Given the description of an element on the screen output the (x, y) to click on. 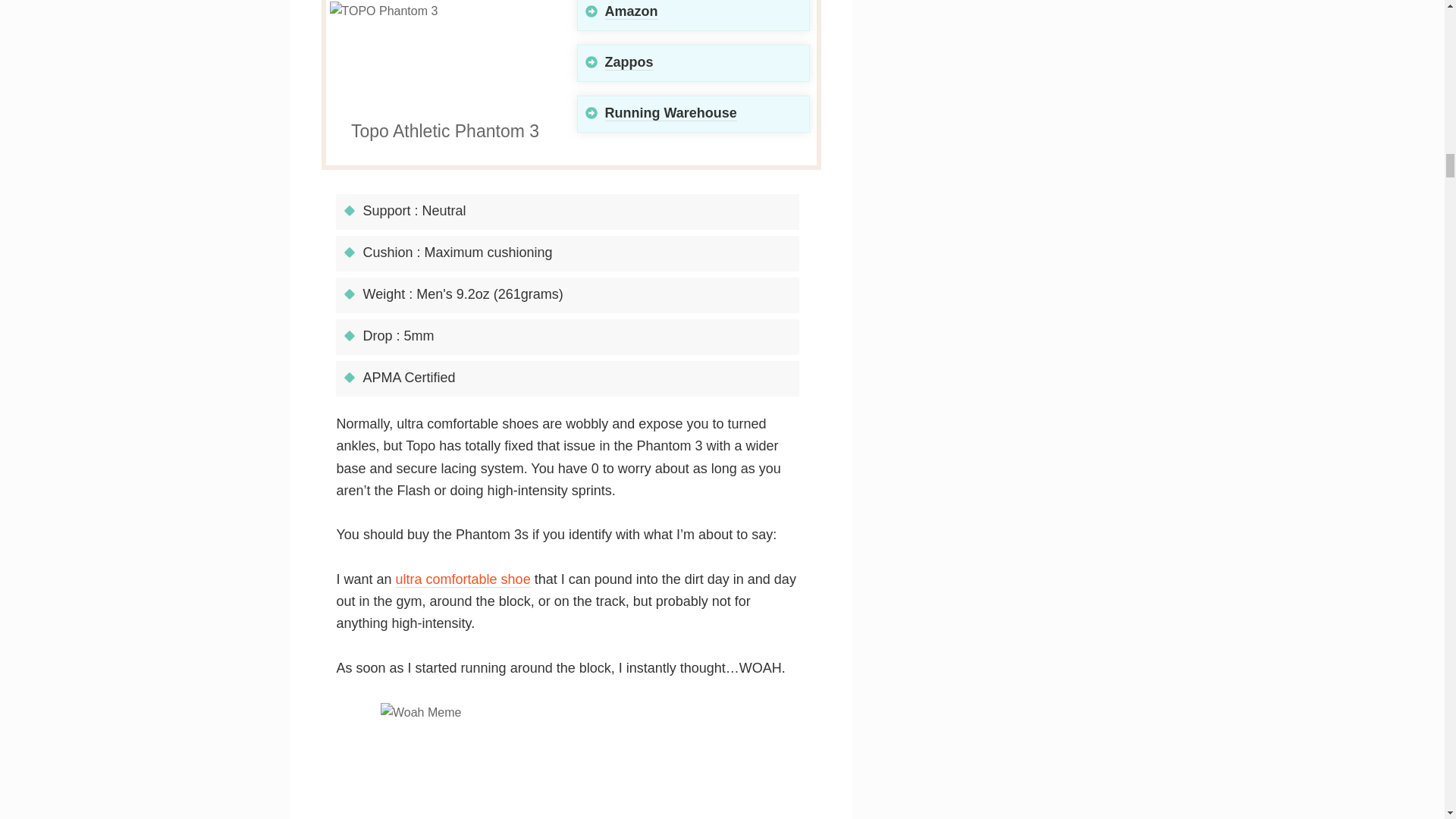
Amazon (631, 11)
Running Warehouse (670, 113)
ultra comfortable shoe (463, 579)
Woah Meme (570, 760)
TOPO Phantom 3 (446, 58)
Zappos (629, 62)
